Given the description of an element on the screen output the (x, y) to click on. 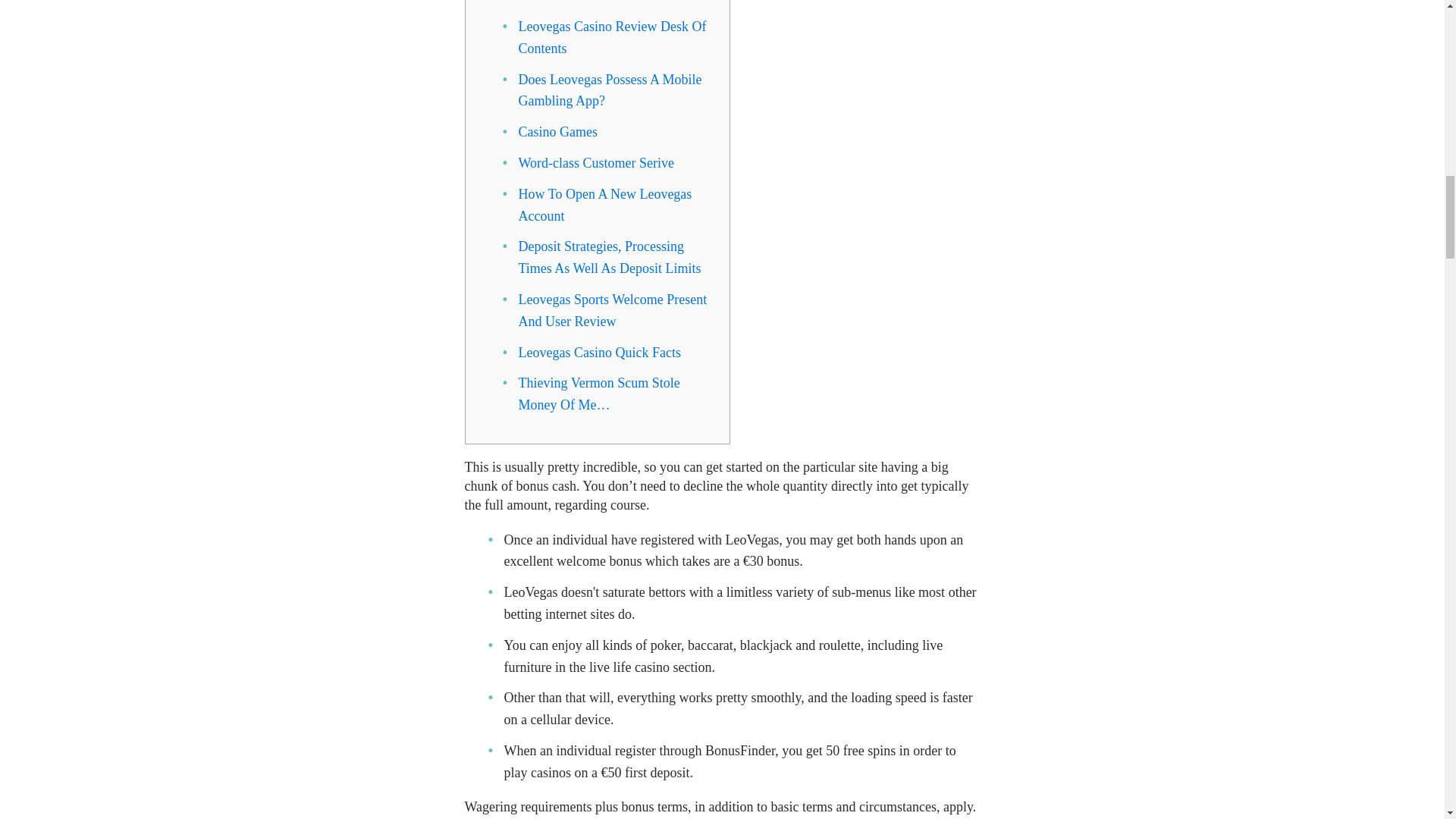
Does Leovegas Possess A Mobile Gambling App? (609, 90)
Casino Games (557, 131)
Can I Play Fetta At Leovegas On Line Casino? (608, 1)
Word-class Customer Serive (596, 162)
Leovegas Casino Review Desk Of Contents (612, 37)
How To Open A New Leovegas Account (605, 204)
